Given the description of an element on the screen output the (x, y) to click on. 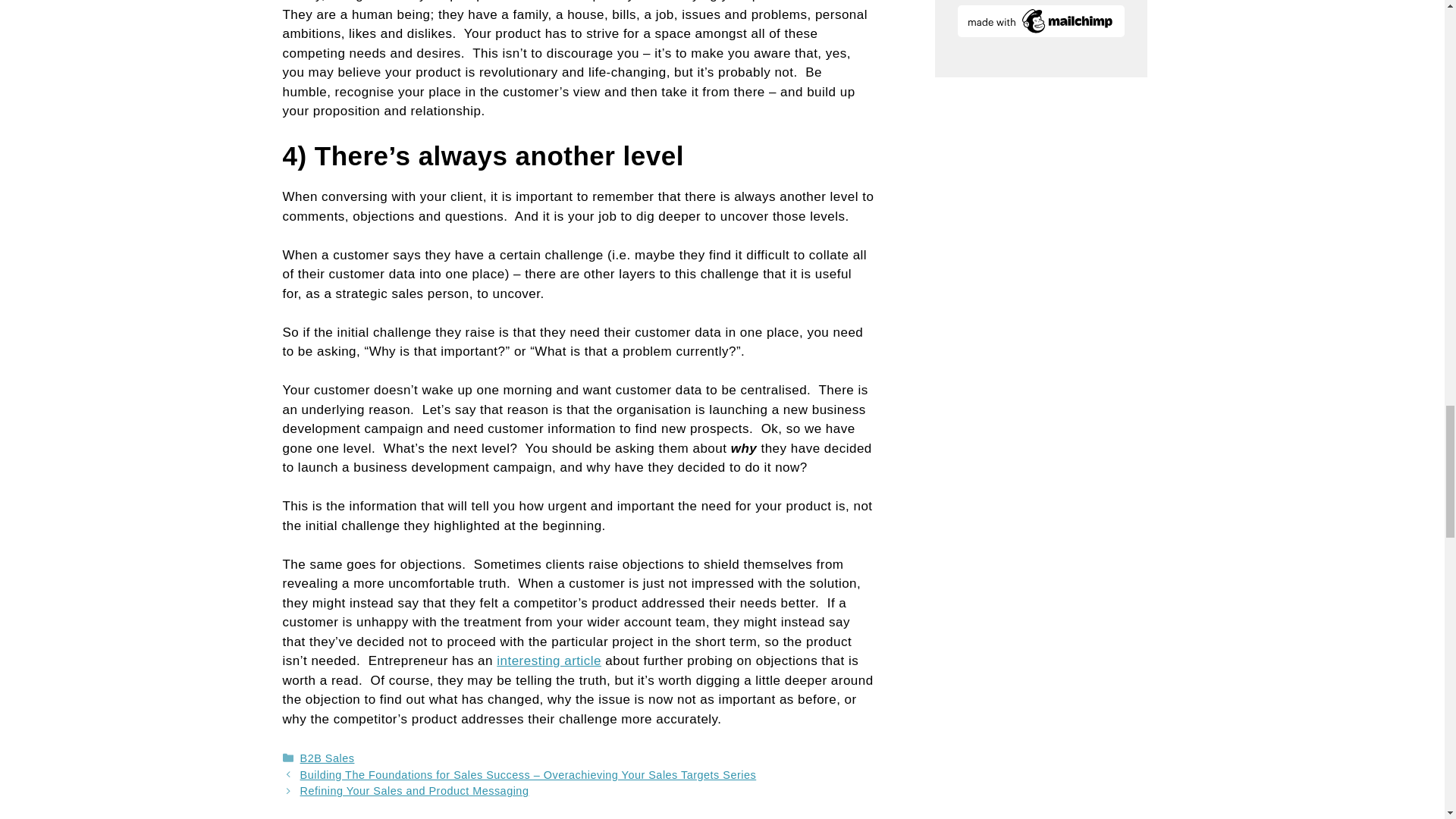
interesting article (548, 660)
Next (414, 790)
Previous (528, 775)
B2B Sales (327, 758)
Mailchimp - email marketing made easy and fun (1040, 32)
Refining Your Sales and Product Messaging (414, 790)
